Given the description of an element on the screen output the (x, y) to click on. 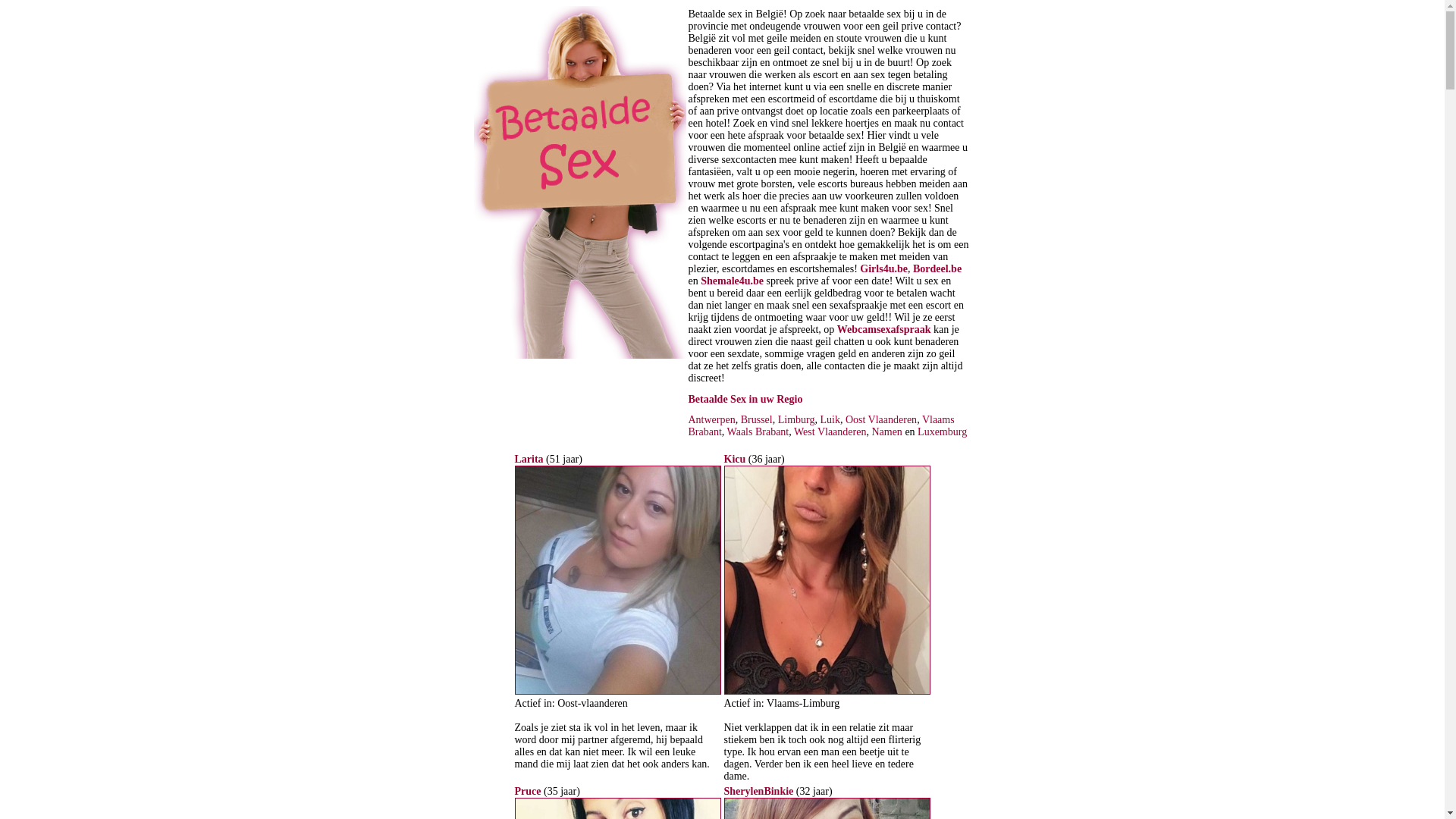
Oost Vlaanderen Element type: text (880, 419)
Pruce Element type: text (527, 791)
Brussel Element type: text (756, 419)
Girls4u.be Element type: text (883, 268)
West Vlaanderen Element type: text (829, 431)
Webcamsexafspraak Element type: text (884, 329)
Vlaams Brabant Element type: text (821, 425)
Luik Element type: text (829, 419)
Larita Element type: text (528, 458)
51 jarige Vrouw wilt sex Element type: hover (617, 690)
Luxemburg Element type: text (941, 431)
36 jarige Vrouw wilt sex Element type: hover (826, 690)
Shemale4u.be Element type: text (731, 280)
Antwerpen Element type: text (711, 419)
Namen Element type: text (886, 431)
Limburg Element type: text (796, 419)
Kicu Element type: text (734, 458)
Bordeel.be Element type: text (937, 268)
Waals Brabant Element type: text (758, 431)
SherylenBinkie Element type: text (758, 791)
